Given the description of an element on the screen output the (x, y) to click on. 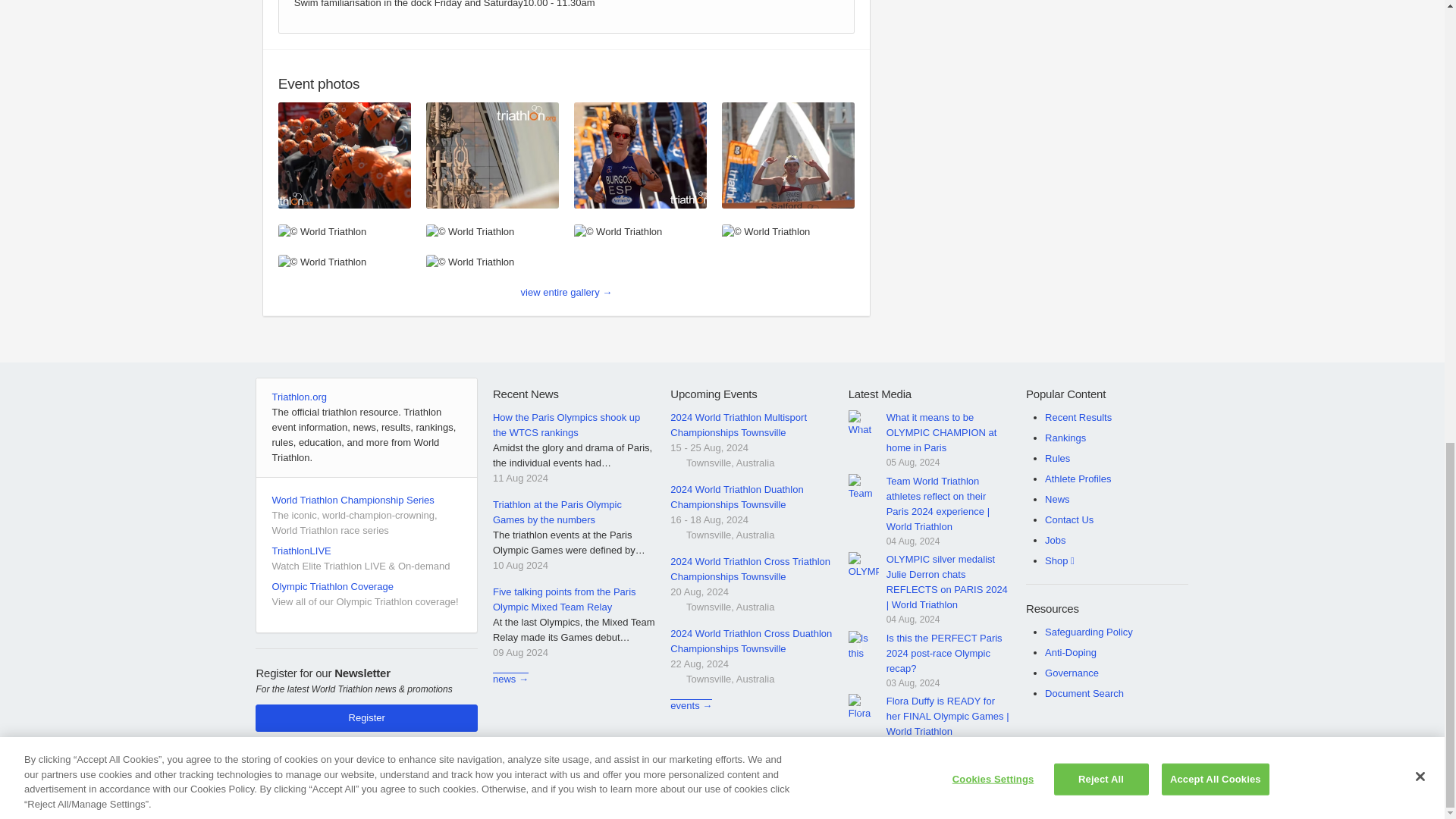
Australia flag (675, 606)
Australia flag (675, 462)
Australia flag (675, 678)
Australia flag (675, 534)
